Given the description of an element on the screen output the (x, y) to click on. 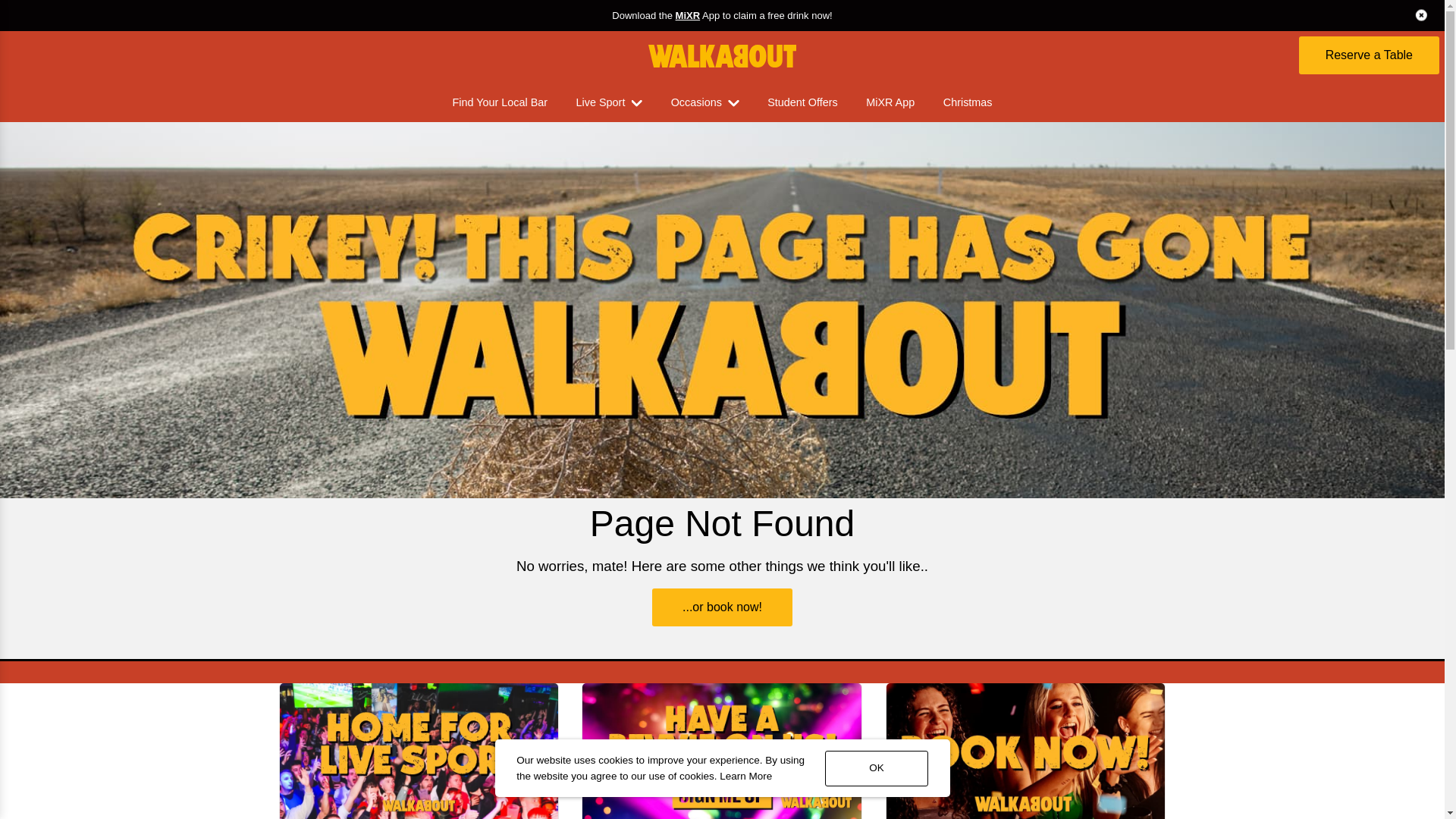
Have a bevvie on us! Sign me up. (721, 751)
Book Now (1024, 751)
Home for Live Sport (418, 751)
